Given the description of an element on the screen output the (x, y) to click on. 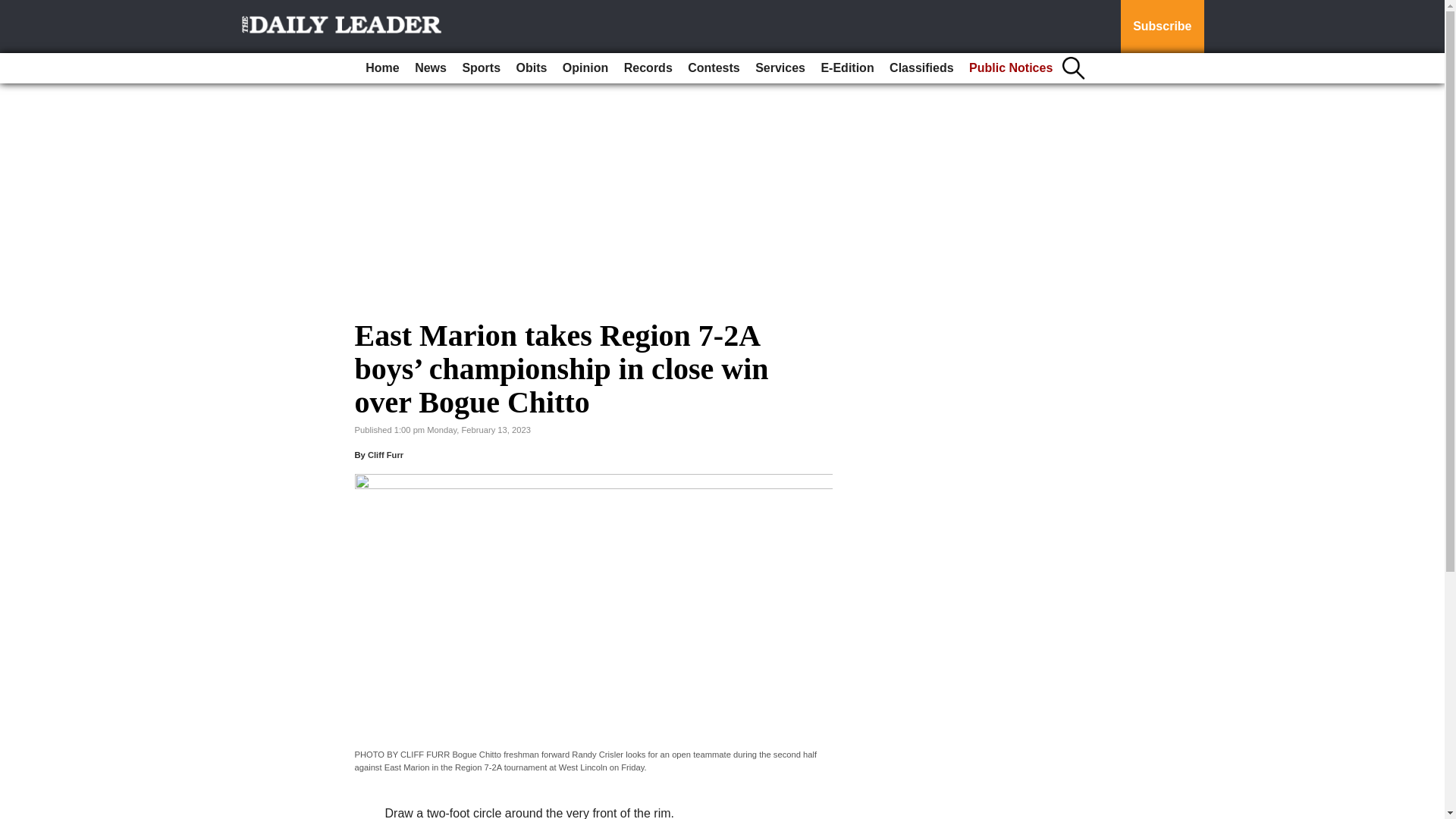
Subscribe (1162, 26)
Obits (532, 68)
News (430, 68)
Opinion (585, 68)
Contests (713, 68)
Sports (480, 68)
Cliff Furr (385, 454)
E-Edition (846, 68)
Home (381, 68)
Records (647, 68)
Services (779, 68)
Go (13, 9)
Public Notices (1010, 68)
Classifieds (921, 68)
